Given the description of an element on the screen output the (x, y) to click on. 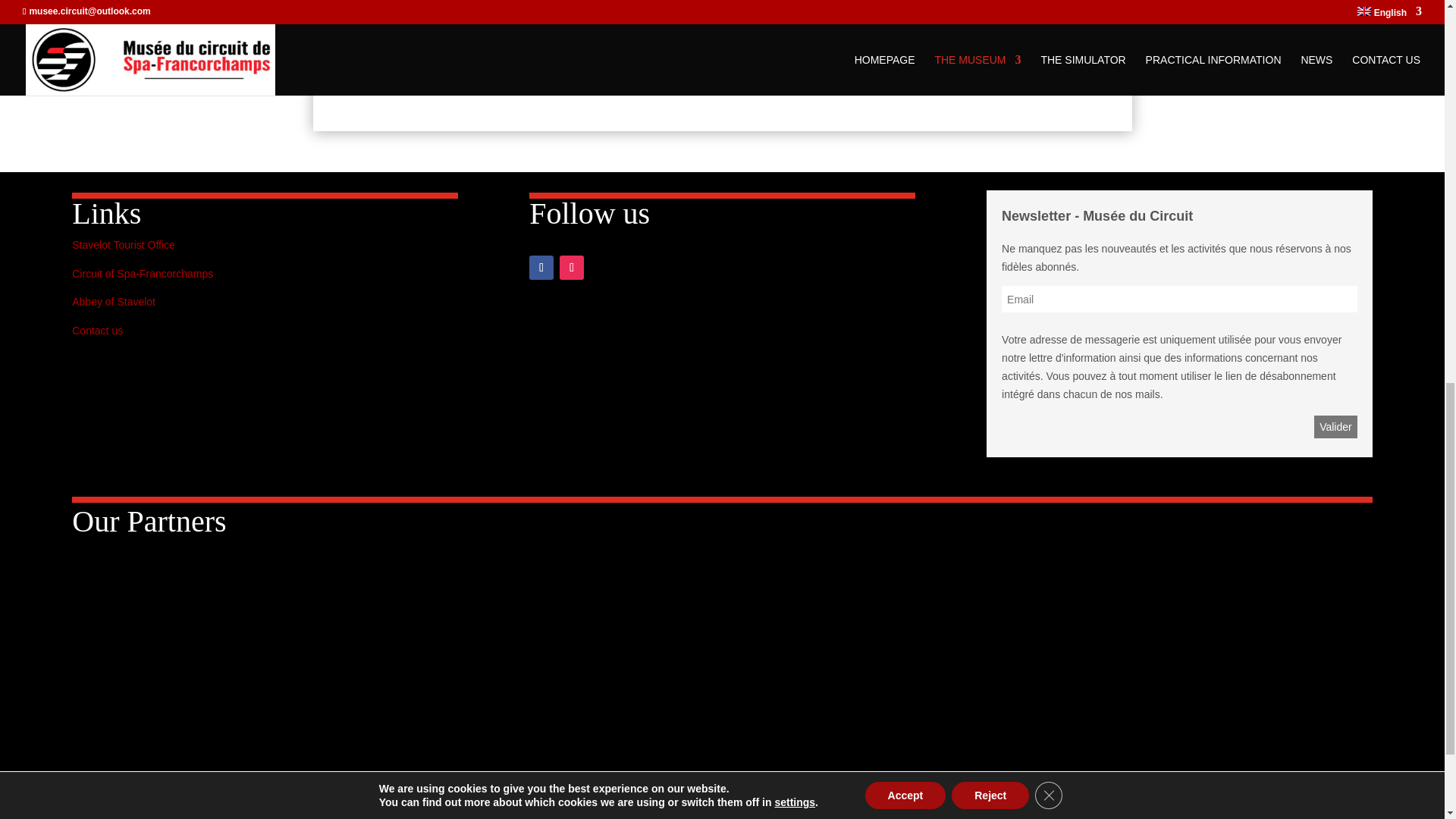
Contact us (96, 330)
Follow on Facebook (541, 267)
Valider (1335, 426)
Abbey of Stavelot (113, 301)
Stavelot Tourist Office (122, 244)
Valider (1335, 426)
Circuit of Spa-Francorchamps (141, 273)
Follow on Instagram (571, 267)
